Given the description of an element on the screen output the (x, y) to click on. 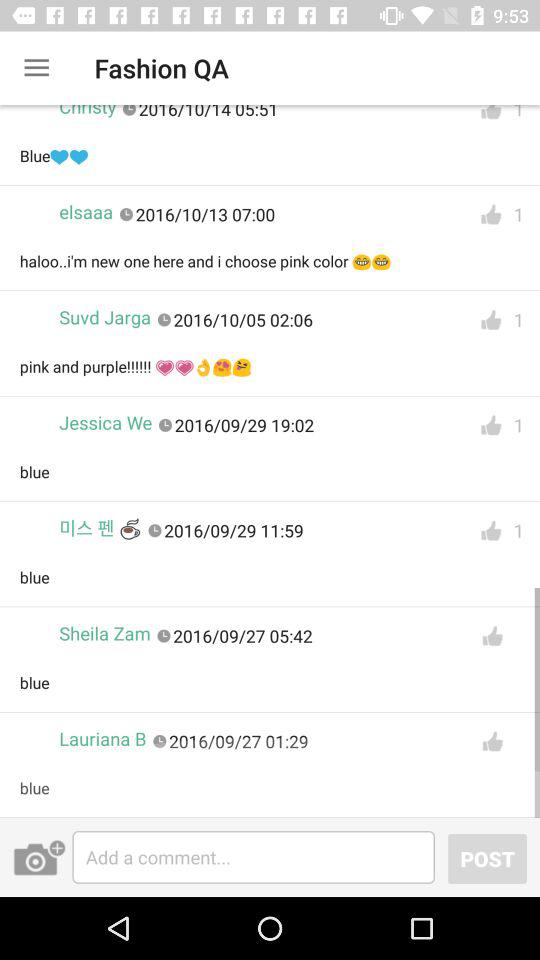
send like to post (492, 741)
